Given the description of an element on the screen output the (x, y) to click on. 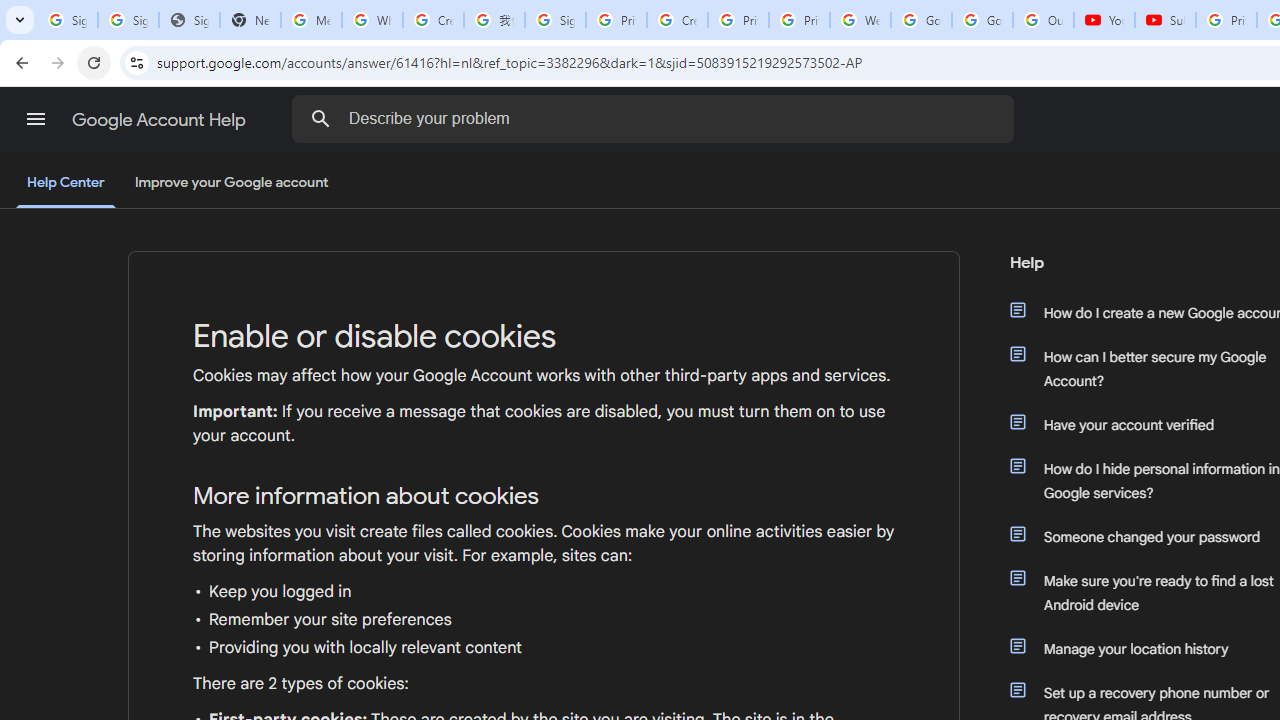
Google Account Help (160, 119)
New Tab (250, 20)
Main menu (35, 119)
Sign in - Google Accounts (555, 20)
Create your Google Account (433, 20)
Describe your problem (655, 118)
